Given the description of an element on the screen output the (x, y) to click on. 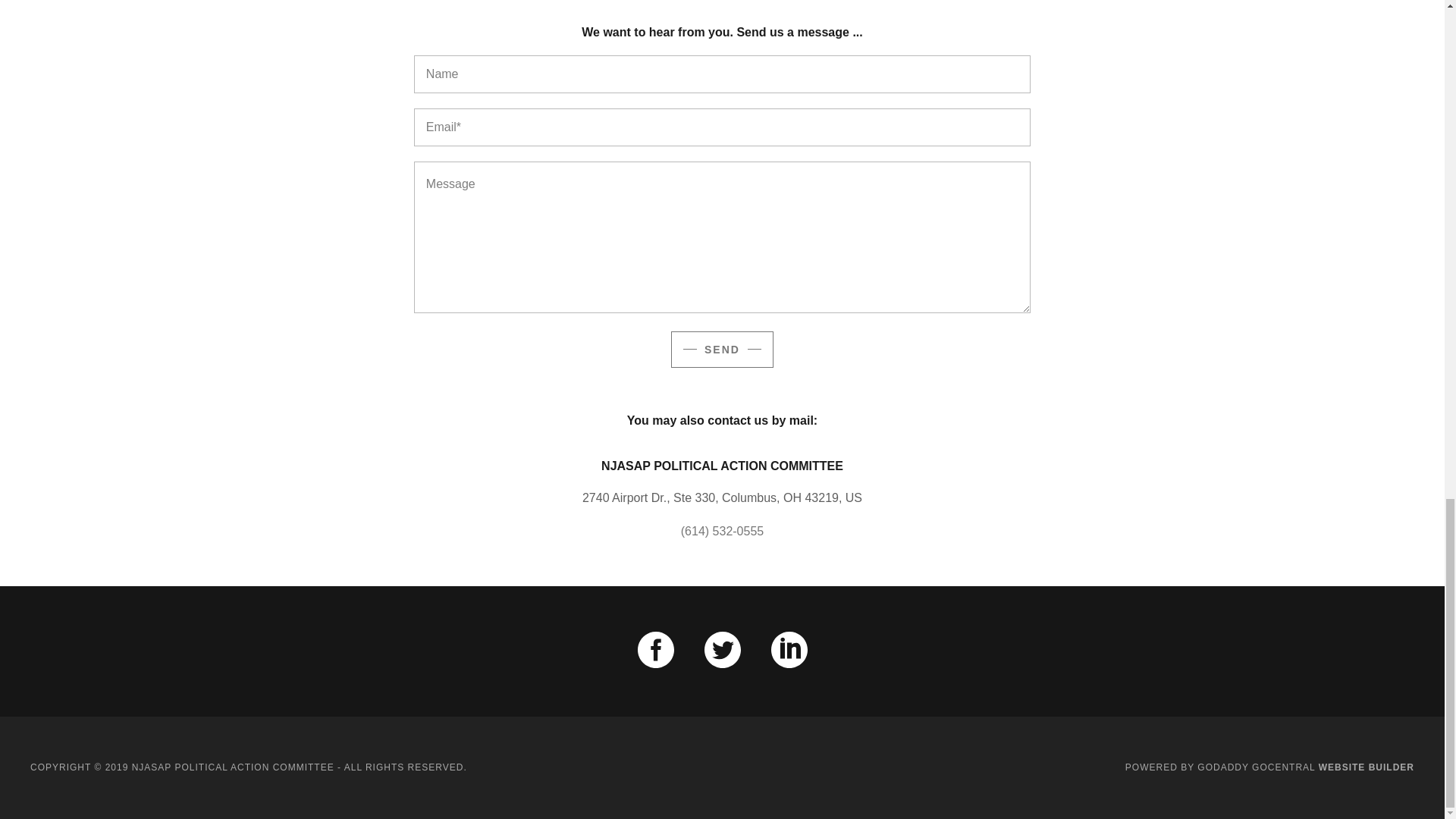
SEND (722, 349)
WEBSITE BUILDER (1366, 767)
